Given the description of an element on the screen output the (x, y) to click on. 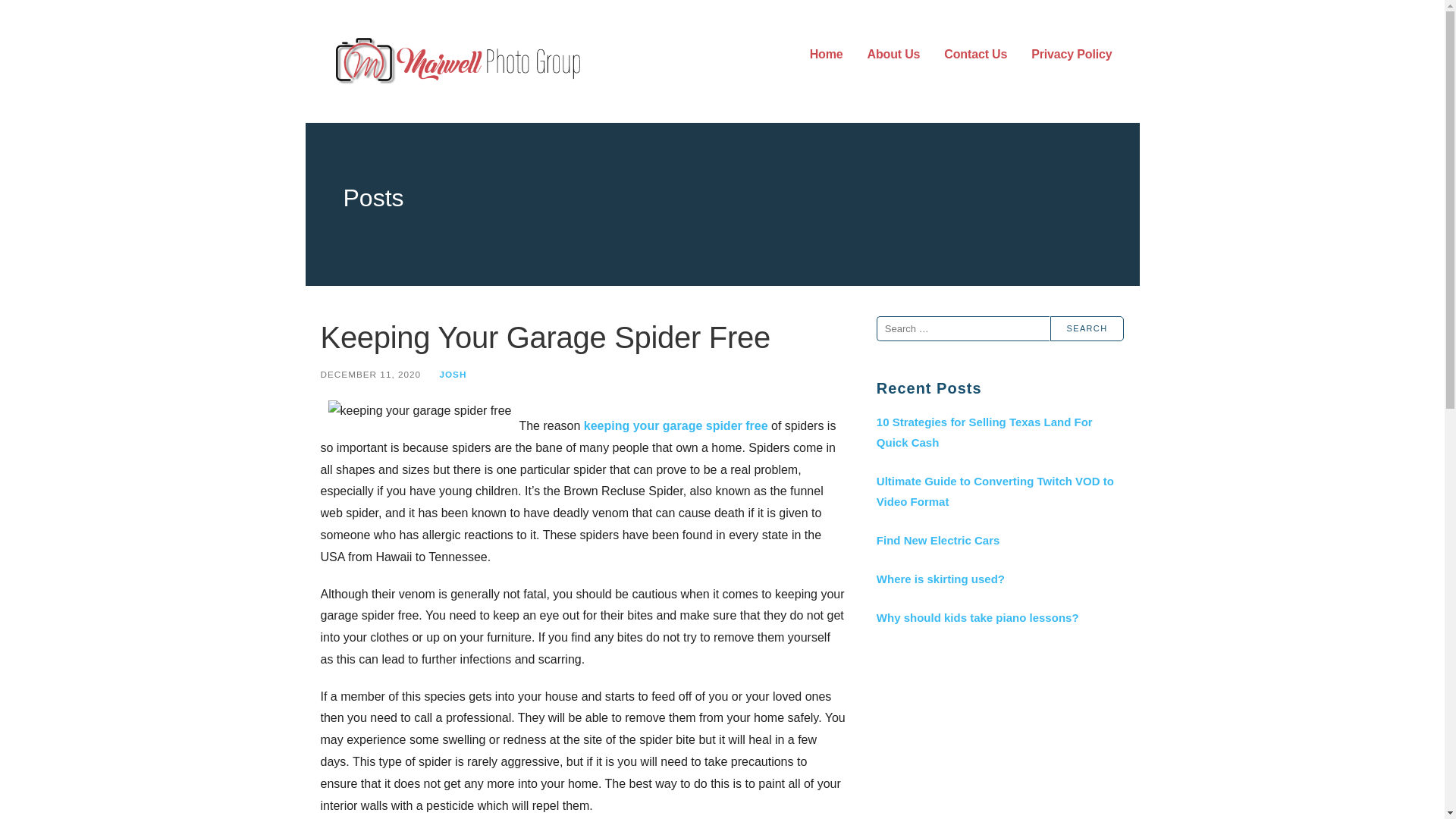
Find New Electric Cars (1000, 539)
Search (1086, 328)
Marwell Photo Group (464, 99)
Posts by Josh (452, 374)
Privacy Policy (1071, 55)
Search (1086, 328)
Why should kids take piano lessons? (1000, 617)
JOSH (452, 374)
About Us (893, 55)
Ultimate Guide to Converting Twitch VOD to Video Format (1000, 490)
